Given the description of an element on the screen output the (x, y) to click on. 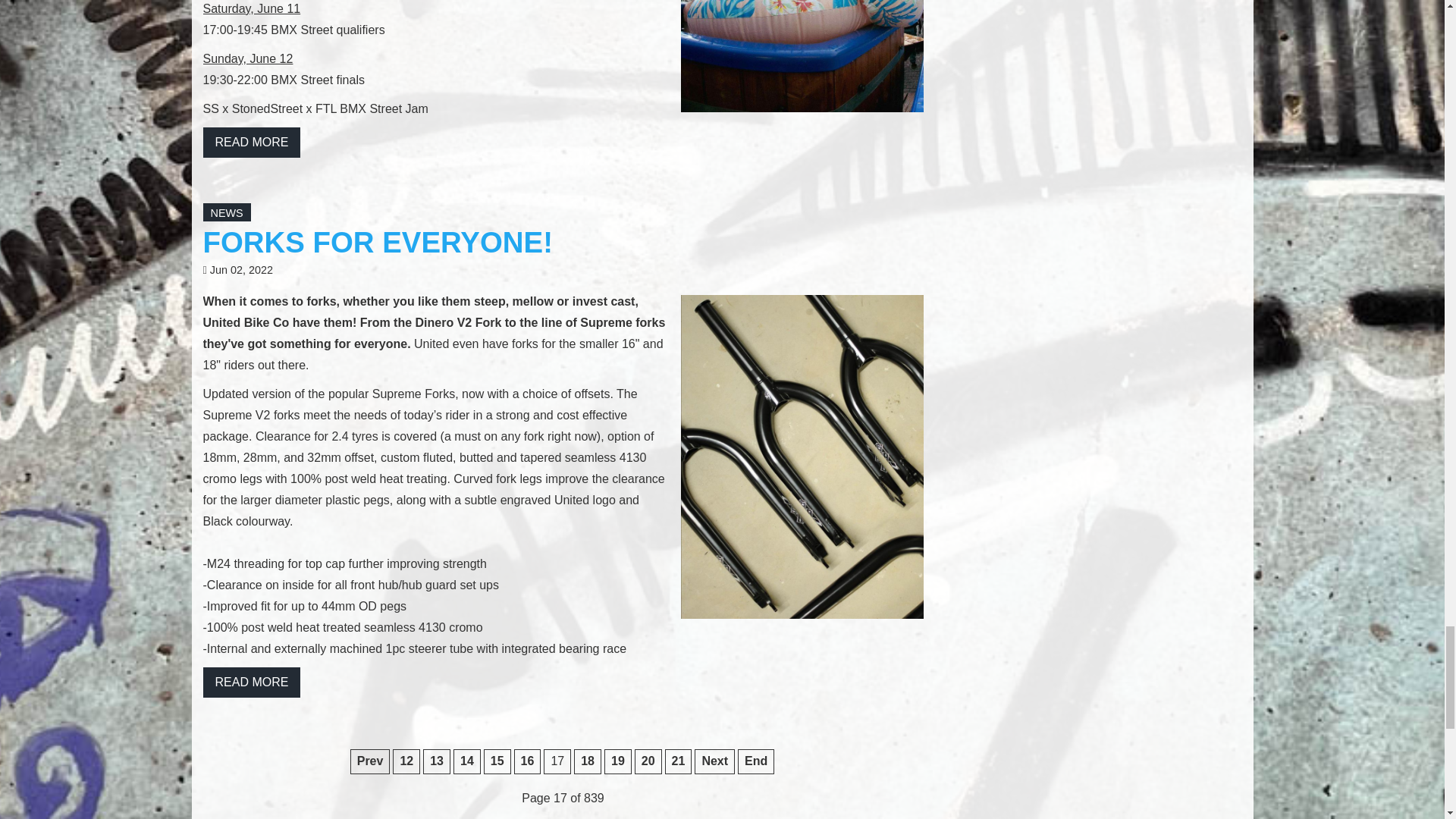
16 (527, 761)
Prev (370, 761)
12 (406, 761)
Next (714, 761)
20 (648, 761)
18 (587, 761)
13 (436, 761)
14 (466, 761)
19 (617, 761)
End (756, 761)
15 (497, 761)
21 (679, 761)
